Given the description of an element on the screen output the (x, y) to click on. 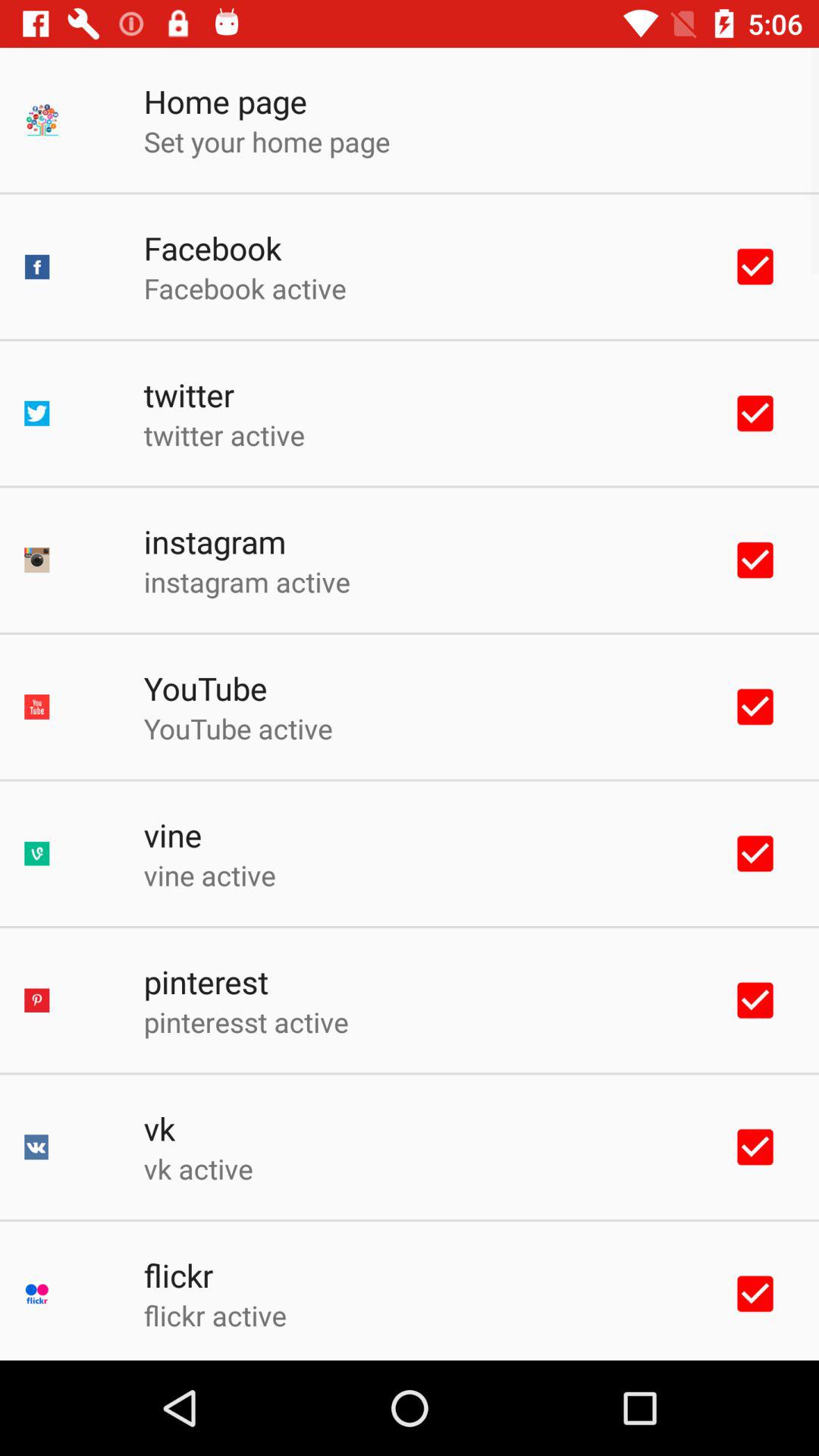
turn off the item below the vine active item (205, 981)
